Given the description of an element on the screen output the (x, y) to click on. 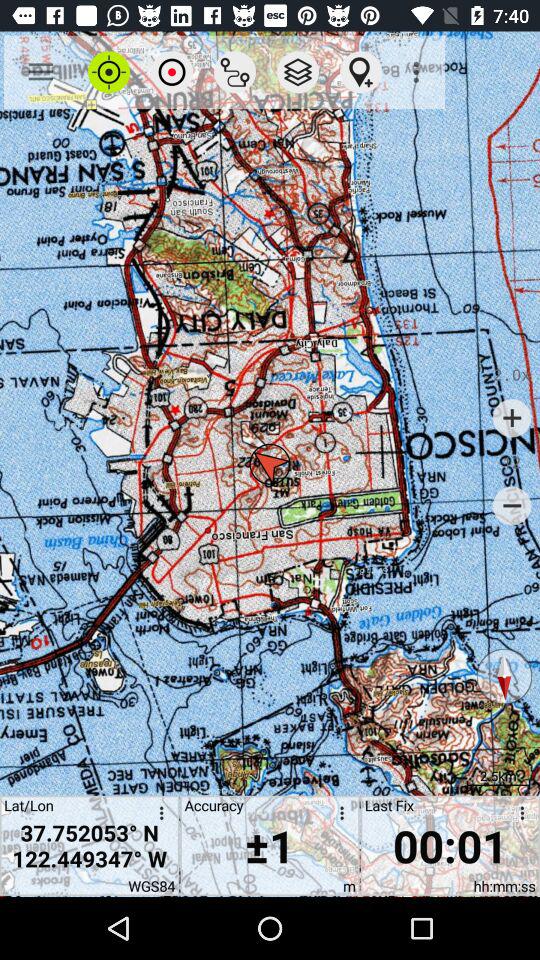
open item above the 12 (512, 418)
